Given the description of an element on the screen output the (x, y) to click on. 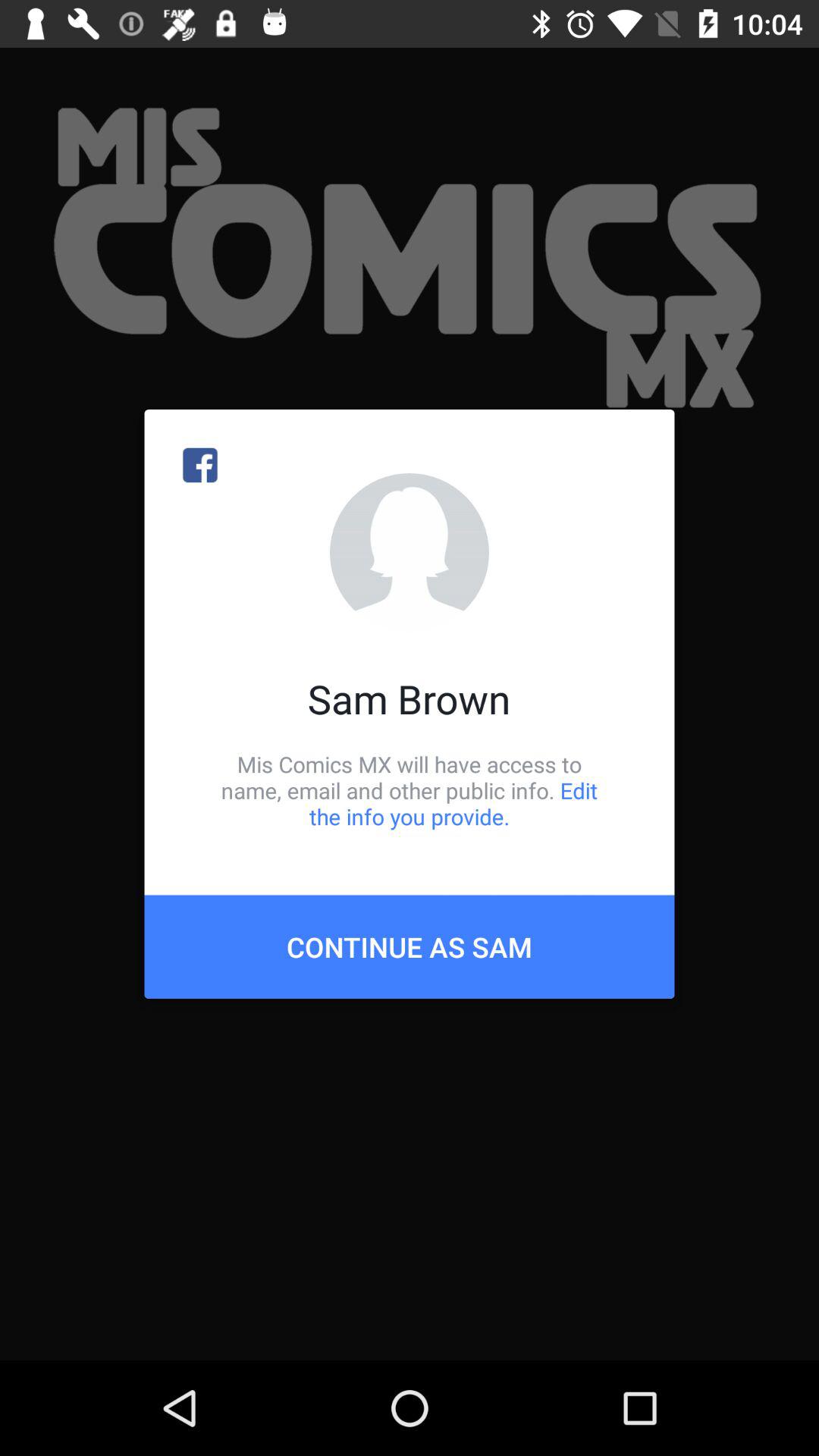
choose icon below mis comics mx item (409, 946)
